Given the description of an element on the screen output the (x, y) to click on. 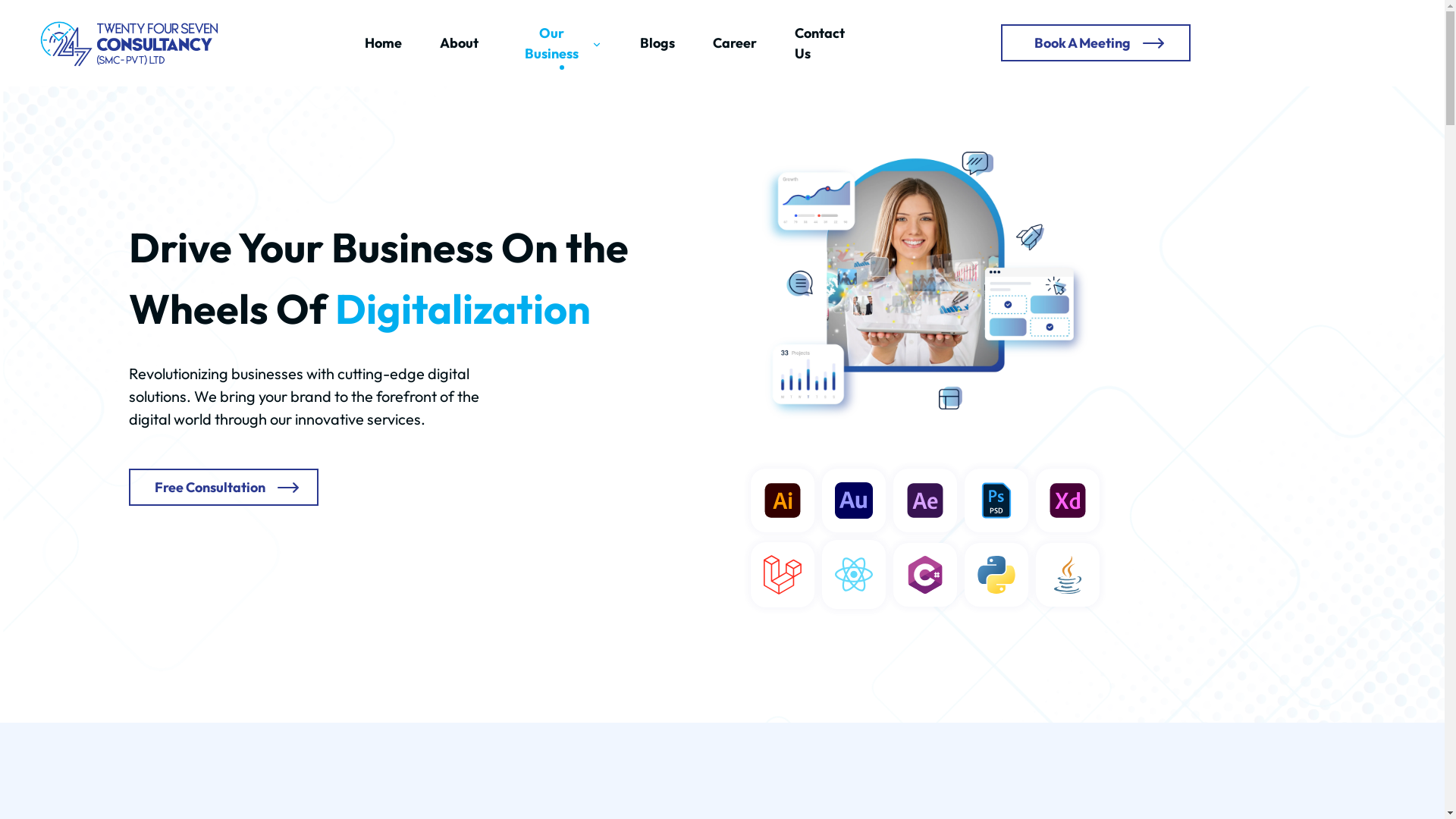
Home Element type: text (401, 42)
About Element type: text (477, 42)
Our Business Element type: text (578, 42)
Free Consultation Element type: text (209, 486)
Blogs Element type: text (676, 42)
Book A Meeting Element type: text (1082, 42)
Contact Us Element type: text (825, 42)
Career Element type: text (753, 42)
